Given the description of an element on the screen output the (x, y) to click on. 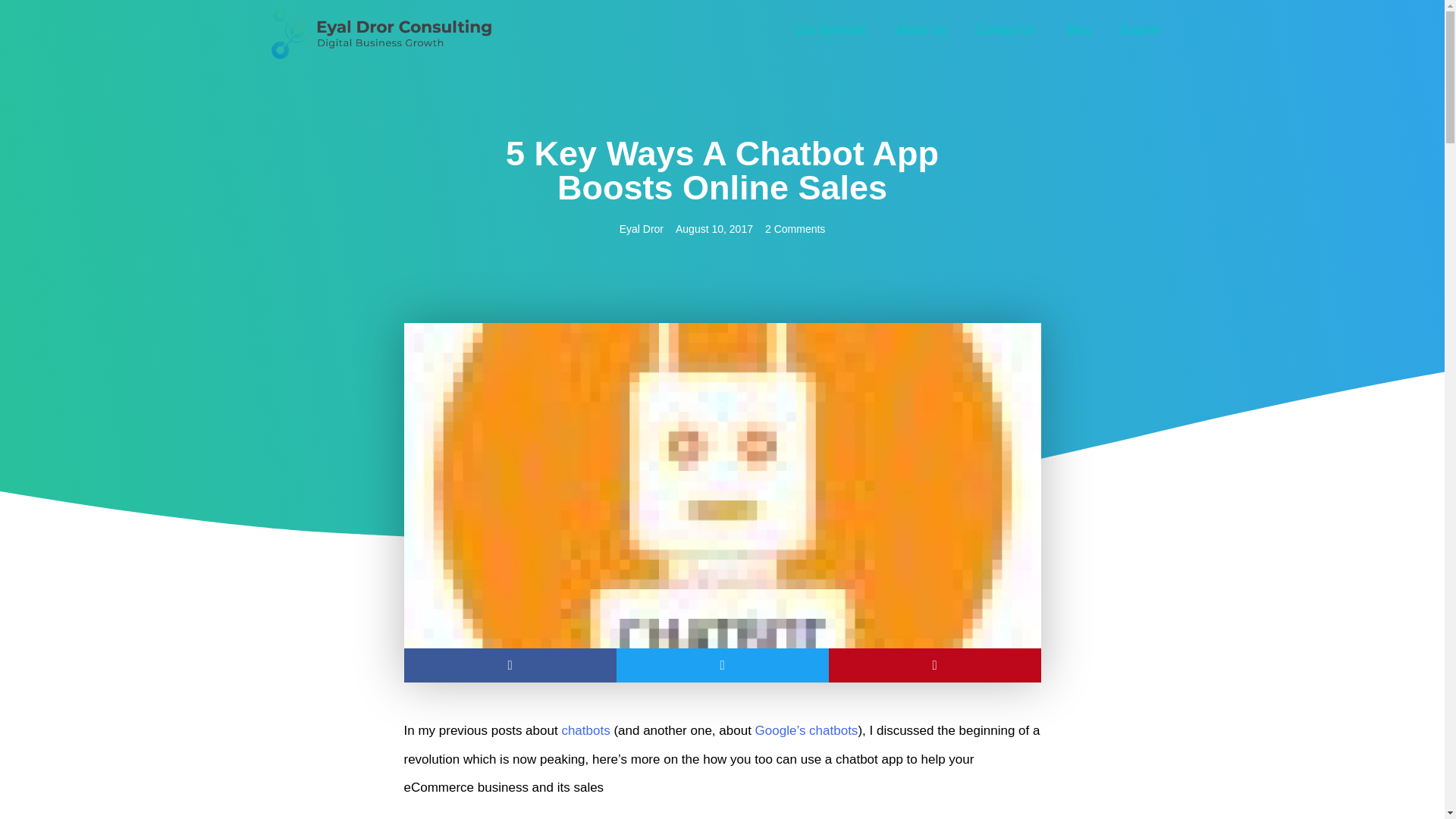
Contact Us (1005, 30)
Blog (1078, 30)
Blog (1078, 30)
Our Services (830, 30)
English (1141, 30)
Contact Us (1005, 30)
English (1141, 30)
About Us (920, 30)
